Given the description of an element on the screen output the (x, y) to click on. 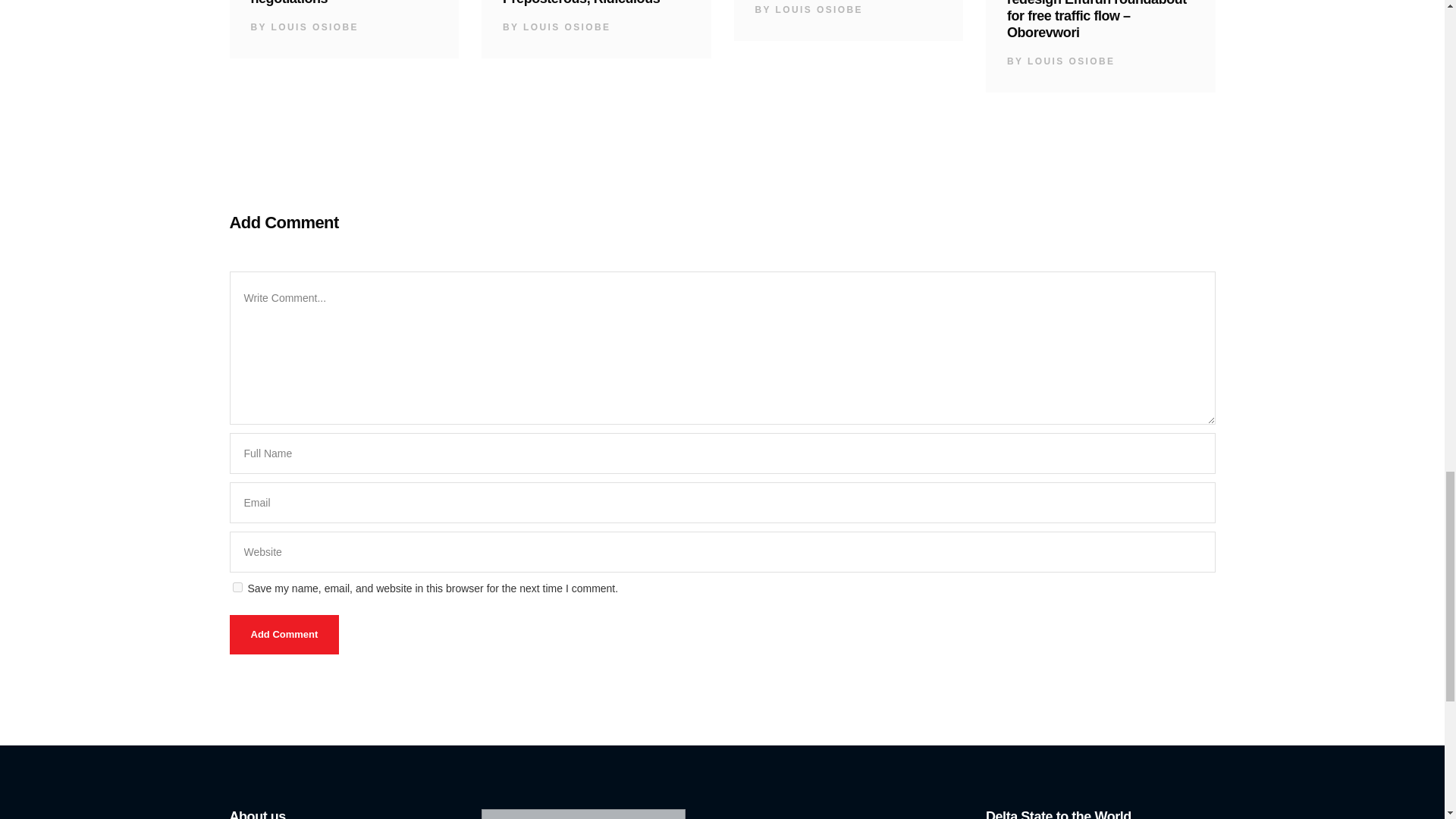
yes (236, 587)
PDP Governors decry delay in New Minimum Wage negotiations (342, 2)
